Given the description of an element on the screen output the (x, y) to click on. 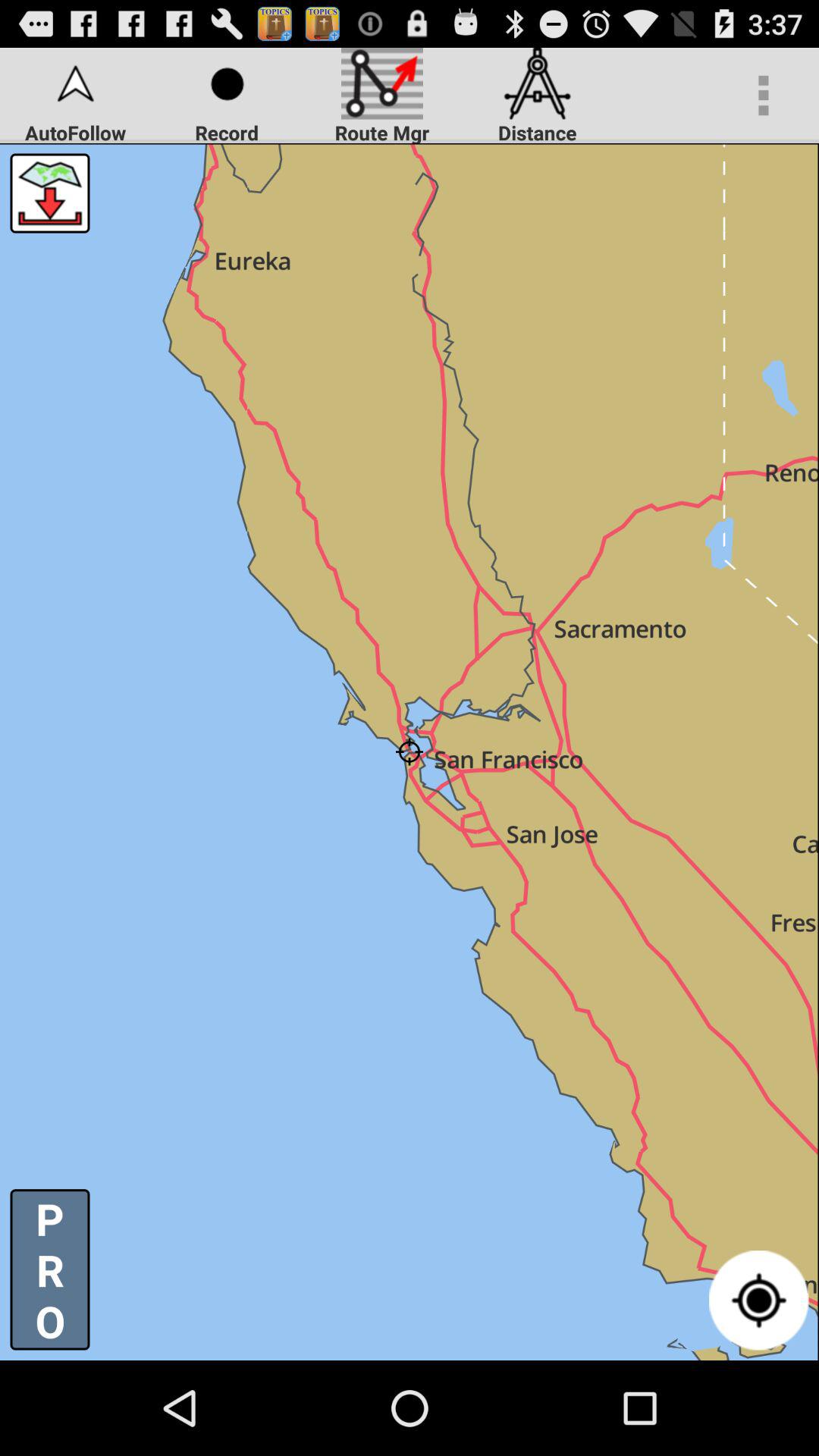
center the map (758, 1300)
